Given the description of an element on the screen output the (x, y) to click on. 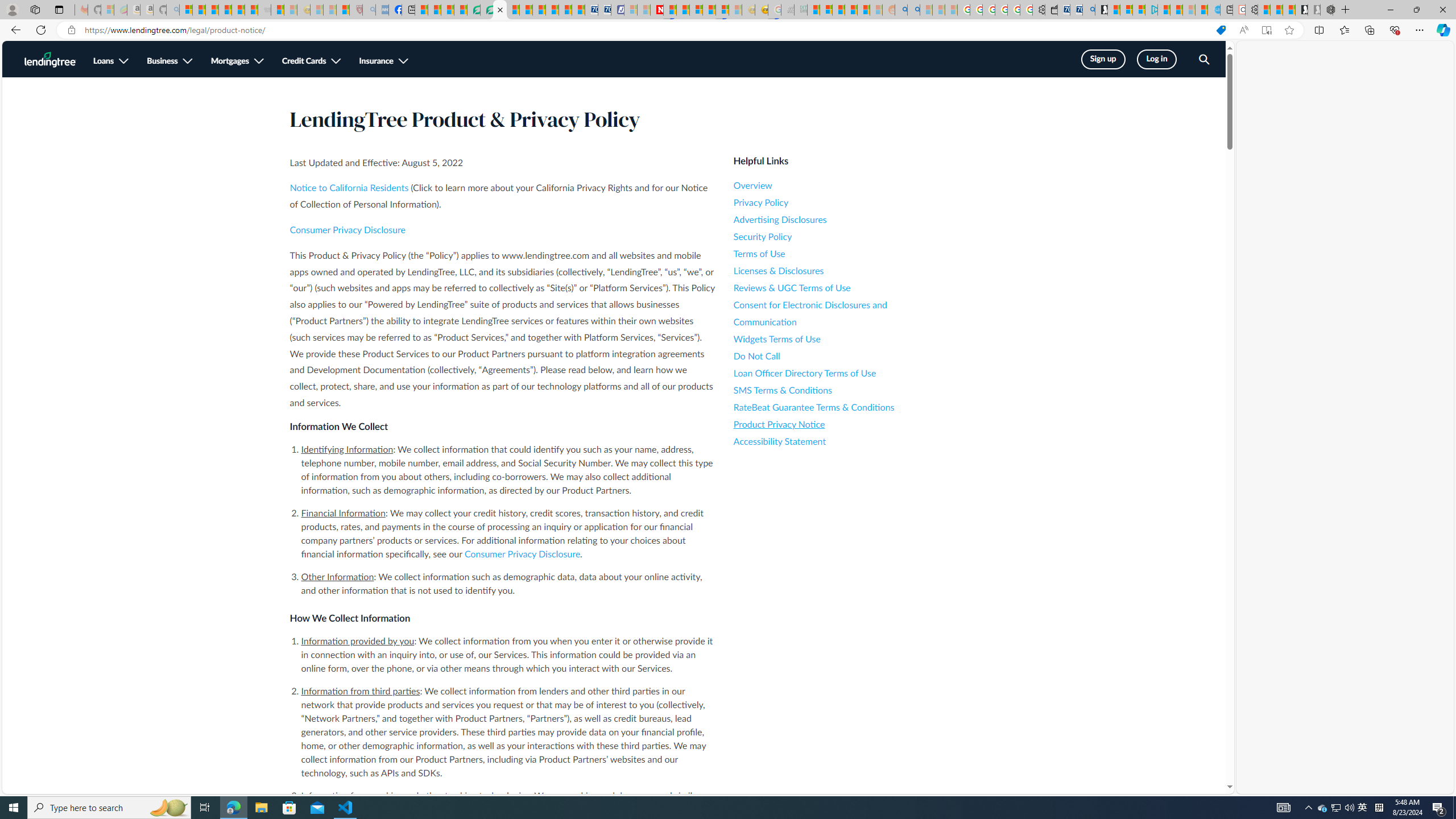
Combat Siege - Sleeping (264, 9)
Bing Real Estate - Home sales and rental listings (1088, 9)
Consumer Privacy Disclosure (522, 554)
Sign up (1102, 58)
